Given the description of an element on the screen output the (x, y) to click on. 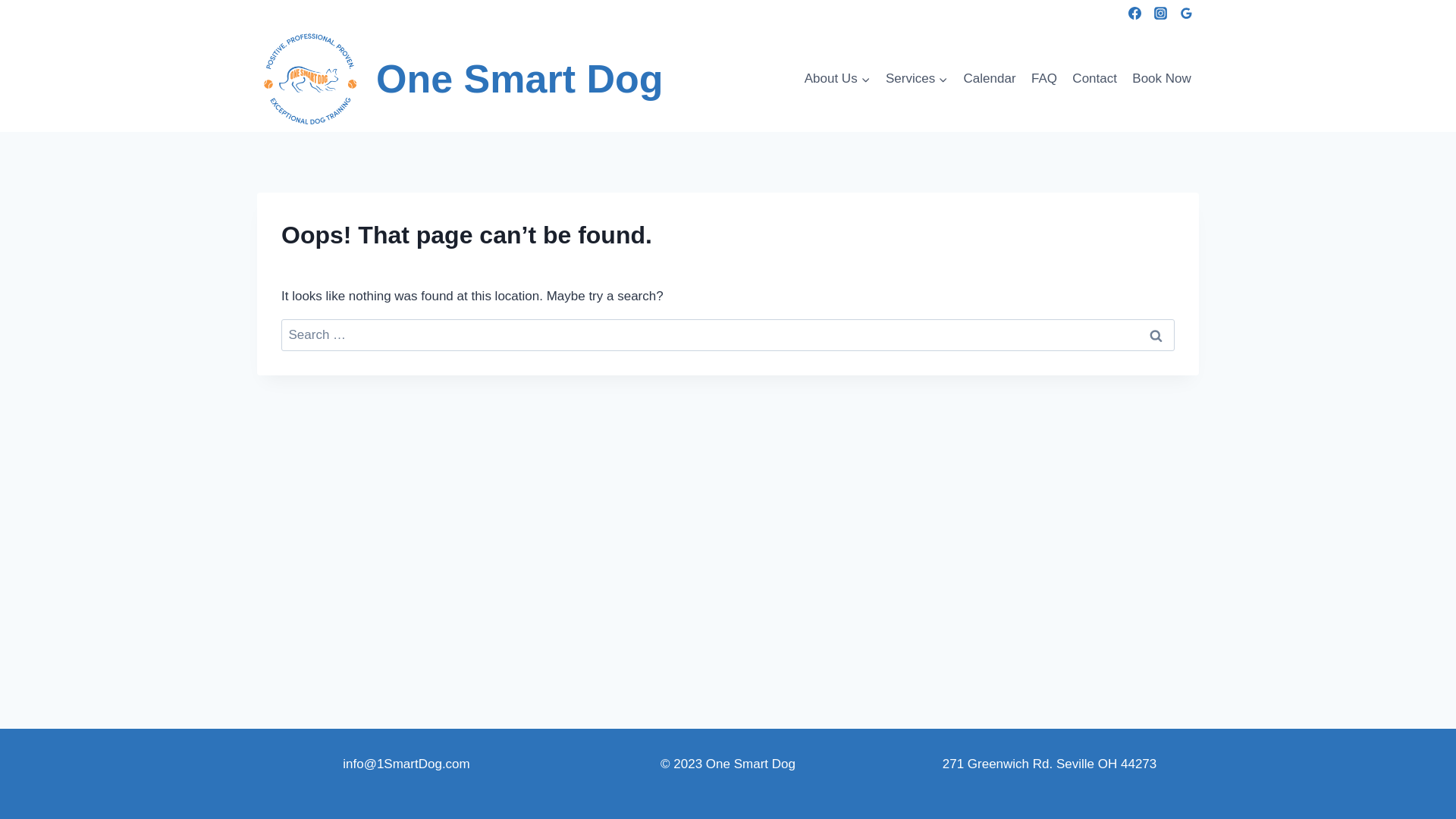
271 Greenwich Rd. Seville OH 44273 Element type: text (1049, 763)
FAQ Element type: text (1043, 78)
Calendar Element type: text (988, 78)
One Smart Dog Element type: text (460, 78)
Services Element type: text (917, 78)
info@1SmartDog.com Element type: text (406, 763)
About Us Element type: text (837, 78)
Contact Element type: text (1094, 78)
Book Now Element type: text (1161, 78)
Search Element type: text (1155, 335)
